Given the description of an element on the screen output the (x, y) to click on. 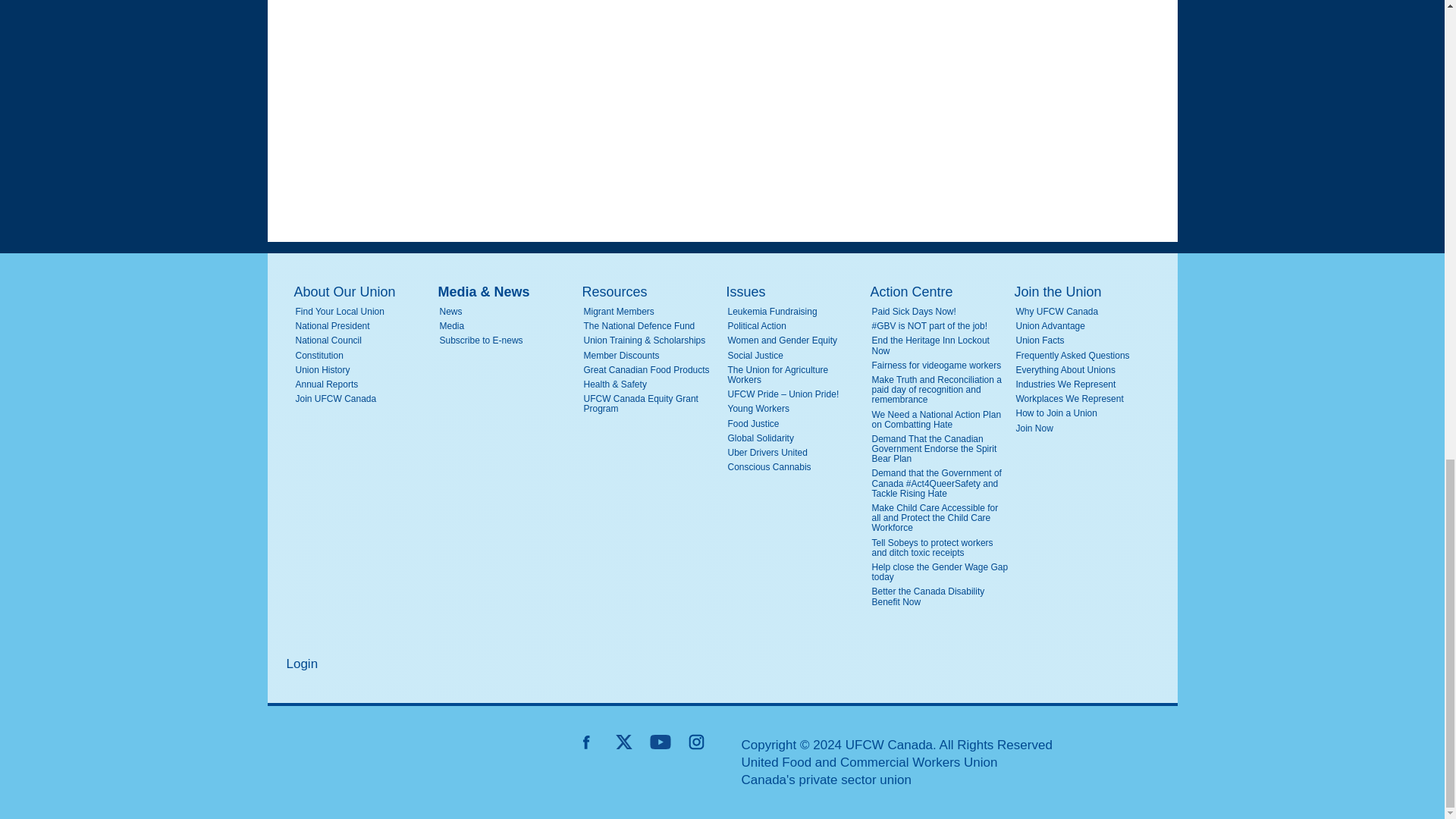
  Instagram (695, 742)
National President (363, 326)
  Facebook (587, 742)
  X (623, 742)
Find Your Local Union (363, 311)
  Youtube2 (660, 742)
About Our Union (362, 292)
